Given the description of an element on the screen output the (x, y) to click on. 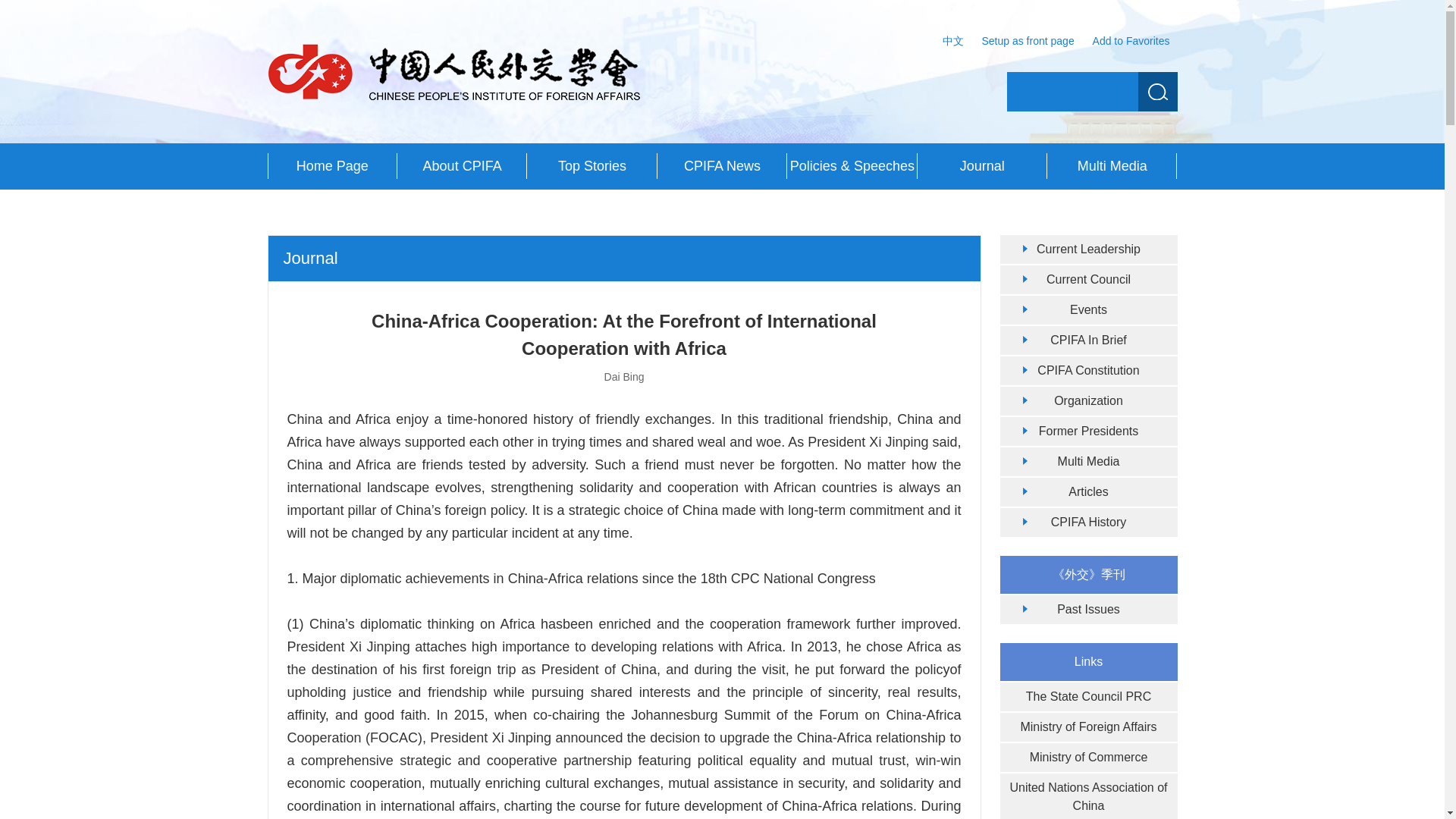
Home Page (331, 166)
About CPIFA (462, 166)
Setup as front page (1027, 40)
CPIFA News (722, 166)
Journal (981, 166)
Add to Favorites (1131, 40)
Top Stories (591, 166)
Multi Media (1111, 166)
